Given the description of an element on the screen output the (x, y) to click on. 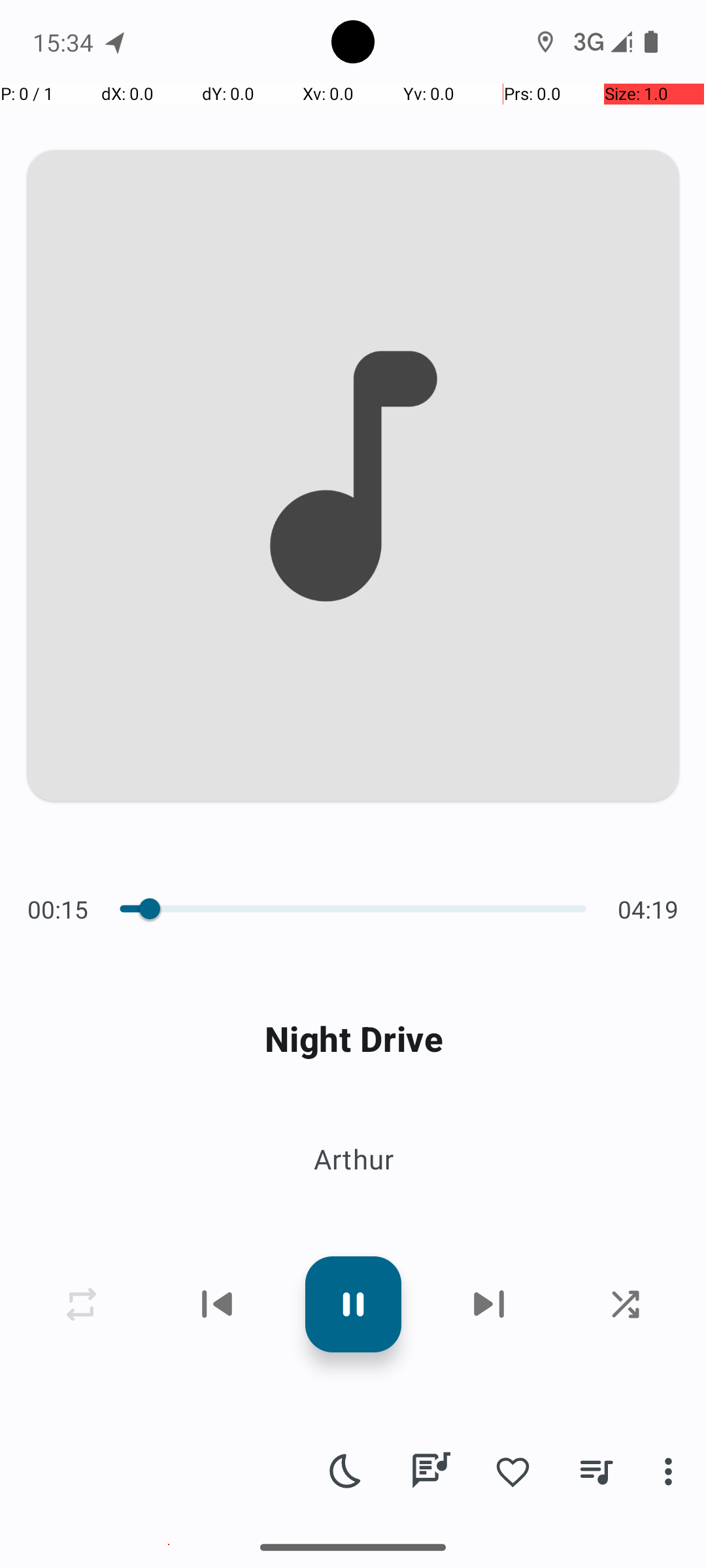
00:15 Element type: android.widget.TextView (61, 908)
04:19 Element type: android.widget.TextView (643, 908)
Night Drive Element type: android.widget.TextView (353, 1038)
Arthur Element type: android.widget.TextView (352, 1158)
Sleep timer Element type: android.widget.Button (346, 1471)
Lyrics Element type: android.widget.Button (429, 1471)
Add to favorites Element type: android.widget.Button (512, 1471)
Now playing queue Element type: android.widget.Button (595, 1471)
1 Album • 1 Song • 04:19 Element type: android.widget.TextView (352, 1004)
Play all Element type: android.widget.Button (186, 1096)
Album Element type: android.widget.TextView (353, 1188)
Value, 11003 Element type: android.widget.SeekBar (142, 908)
Music Element type: android.widget.TextView (168, 1544)
